Given the description of an element on the screen output the (x, y) to click on. 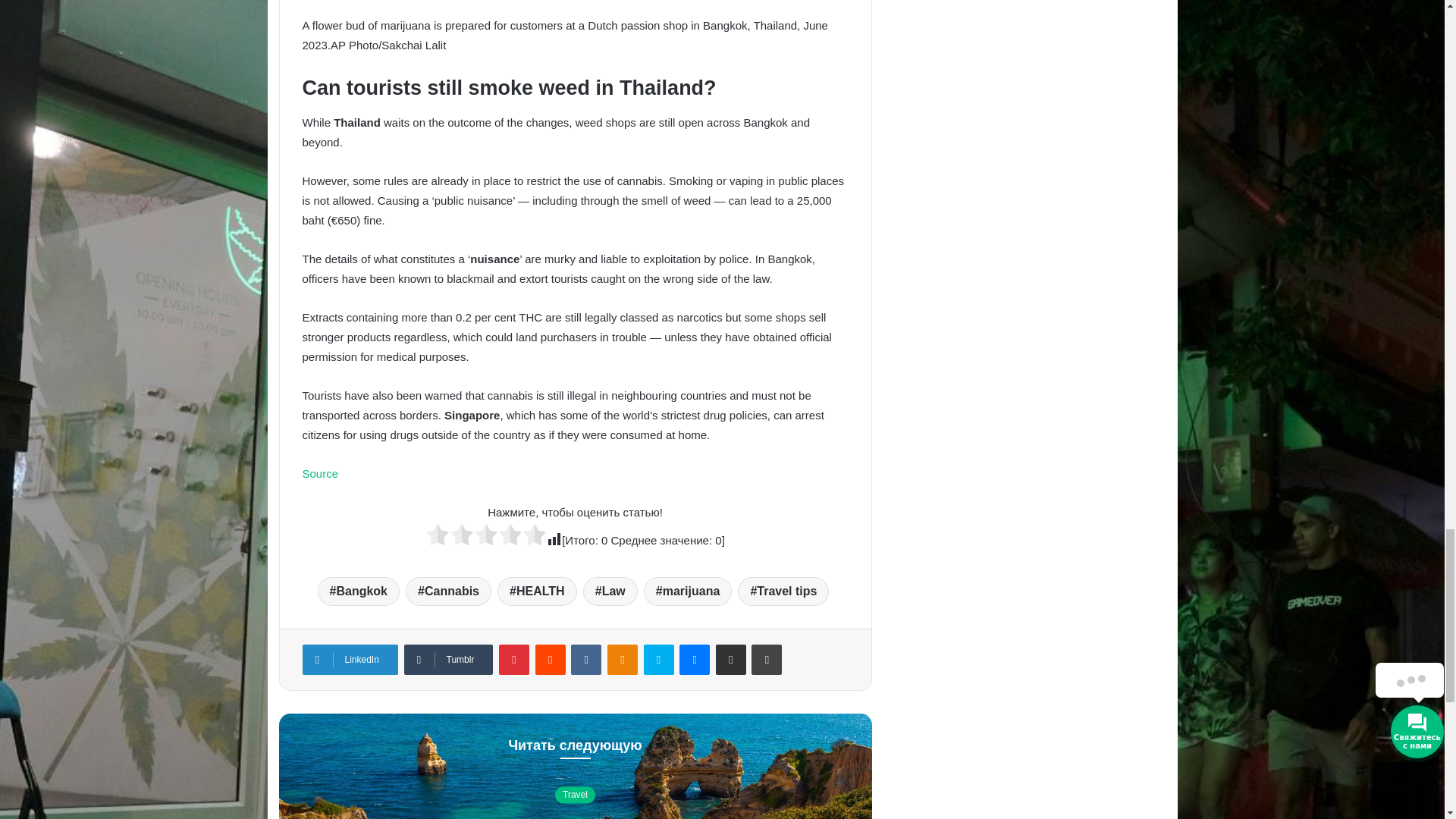
marijuana (687, 591)
LinkedIn (349, 659)
Bangkok (357, 591)
Skype (658, 659)
Tumblr (448, 659)
HEALTH (536, 591)
Source (319, 472)
Cannabis (449, 591)
Pinterest (514, 659)
Travel tips (783, 591)
Reddit (550, 659)
Messenger (694, 659)
Law (610, 591)
